Given the description of an element on the screen output the (x, y) to click on. 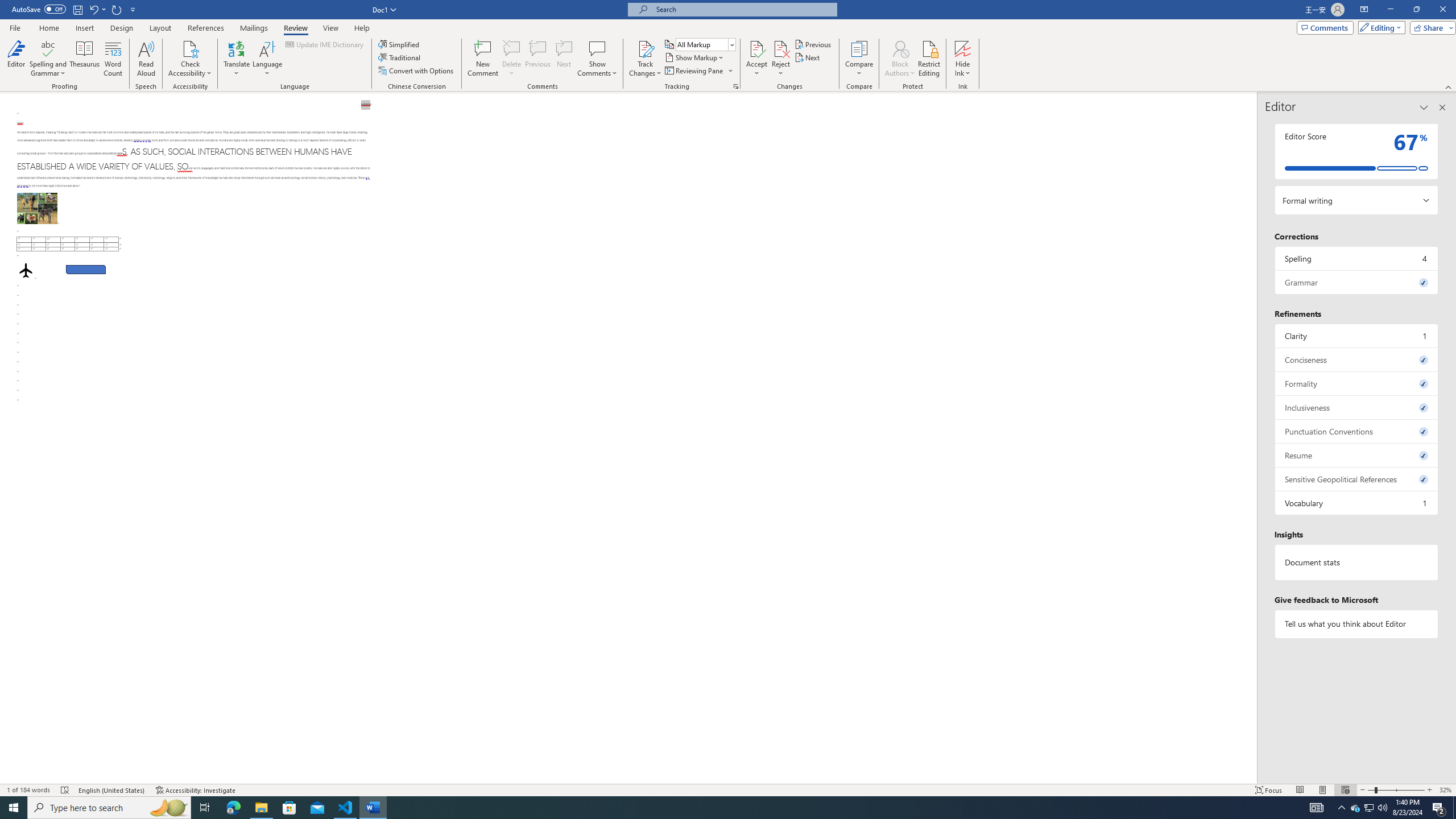
Convert with Options... (417, 69)
Vocabulary, 1 issue. Press space or enter to review items. (1356, 502)
Mailings (253, 28)
Review (295, 28)
Spelling and Grammar (48, 58)
Web Layout (1344, 790)
Zoom (1396, 790)
Collapse the Ribbon (1448, 86)
Spelling and Grammar (48, 48)
Task Pane Options (1423, 107)
Block Authors (900, 48)
Repeat Paragraph Alignment (117, 9)
Print Layout (1322, 790)
Delete (511, 48)
